Given the description of an element on the screen output the (x, y) to click on. 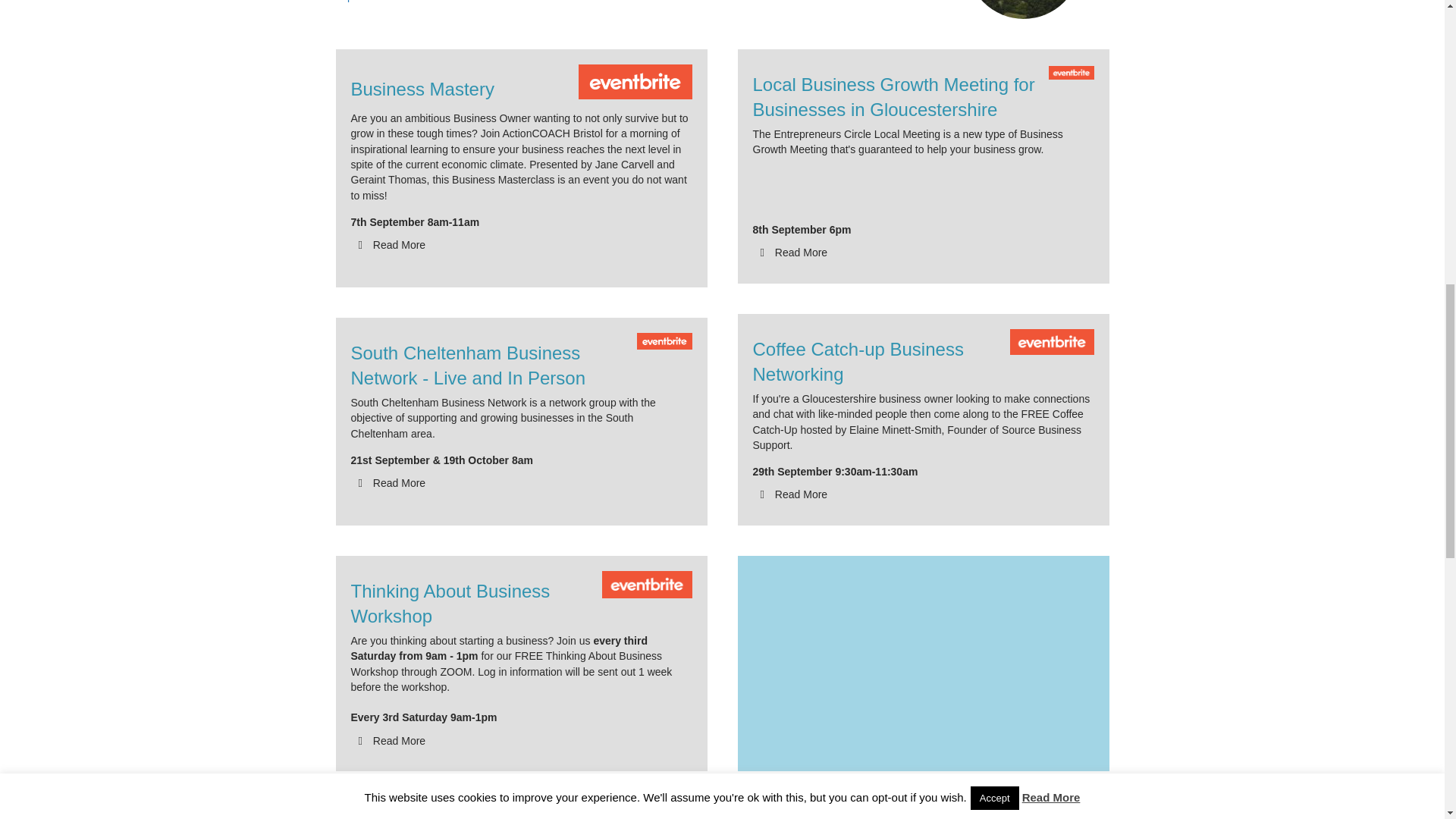
Robinswood 11 (1023, 9)
Read More (391, 245)
Read More (391, 482)
Read More (793, 494)
Read More (793, 252)
Read More (391, 740)
